Given the description of an element on the screen output the (x, y) to click on. 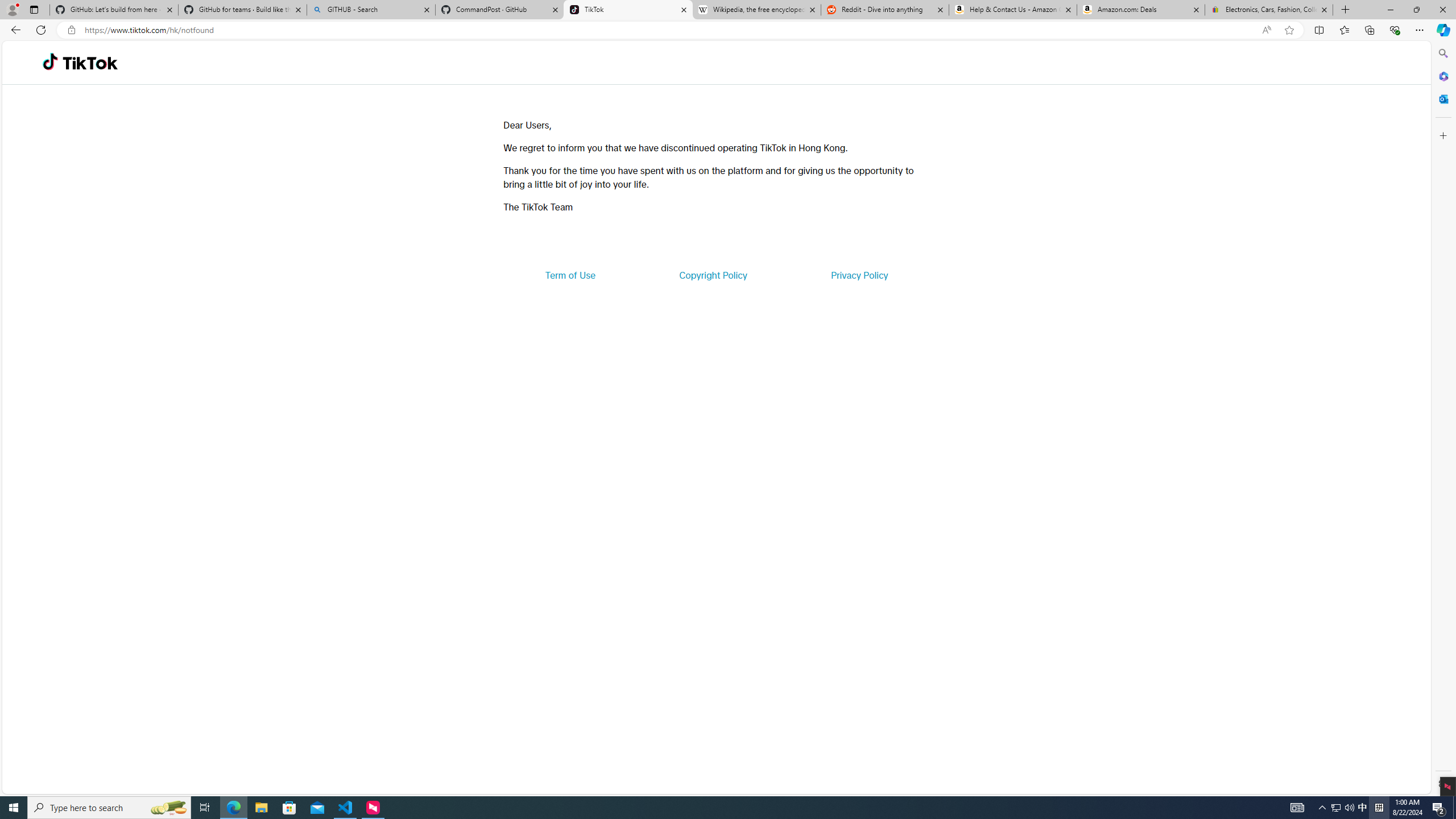
Wikipedia, the free encyclopedia (756, 9)
Privacy Policy (858, 274)
